Given the description of an element on the screen output the (x, y) to click on. 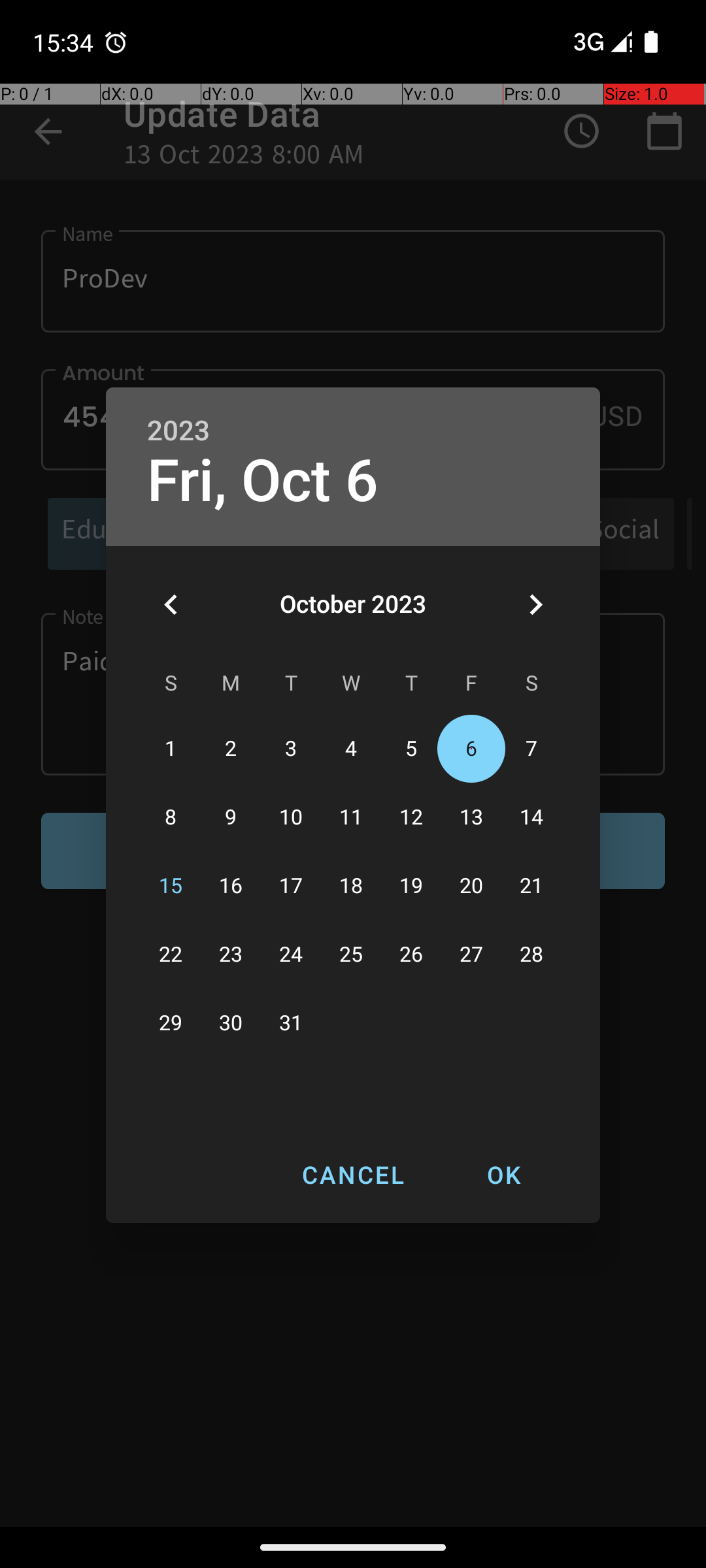
Fri, Oct 6 Element type: android.widget.TextView (262, 480)
